Given the description of an element on the screen output the (x, y) to click on. 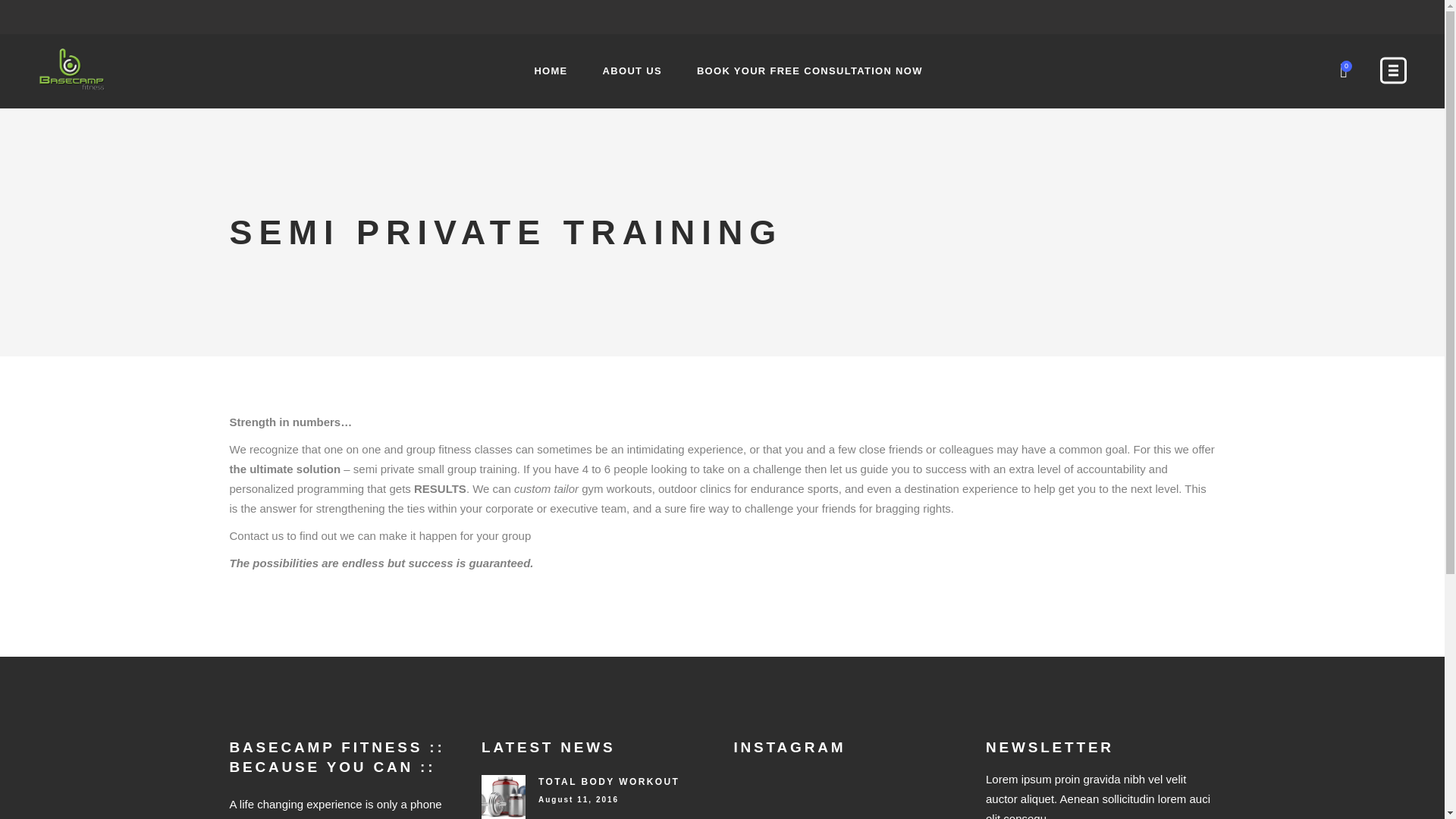
HOME (550, 71)
BOOK YOUR FREE CONSULTATION NOW (809, 71)
TOTAL BODY WORKOUT (608, 781)
ABOUT US (632, 71)
